Given the description of an element on the screen output the (x, y) to click on. 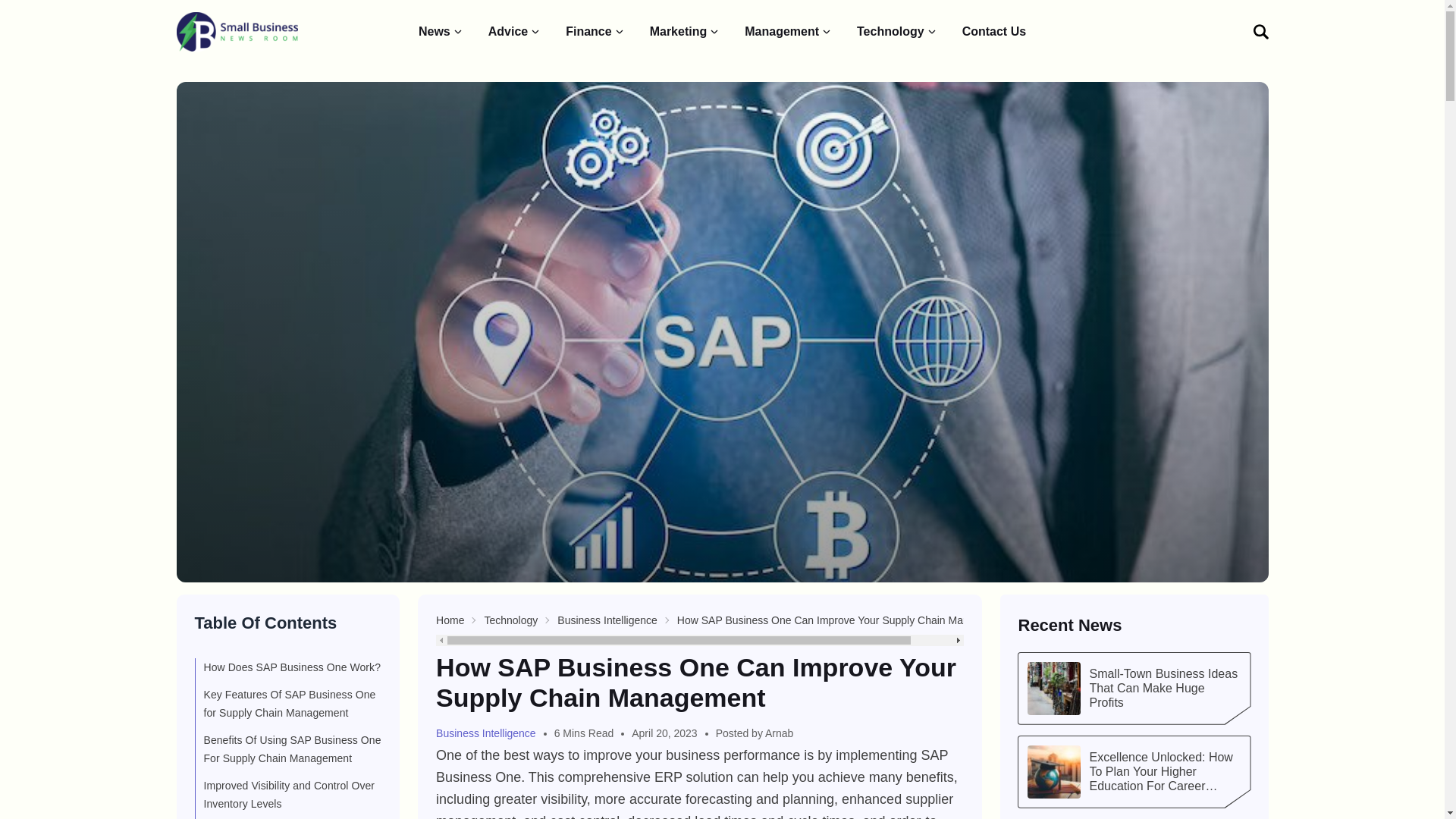
Management (788, 31)
Technology (897, 31)
Subscribe (1195, 227)
Advice (514, 31)
Contact Us (994, 31)
Marketing (684, 31)
News (441, 31)
Finance (595, 31)
Business Intelligence (607, 620)
Technology (510, 620)
Business Intelligence (491, 733)
